Given the description of an element on the screen output the (x, y) to click on. 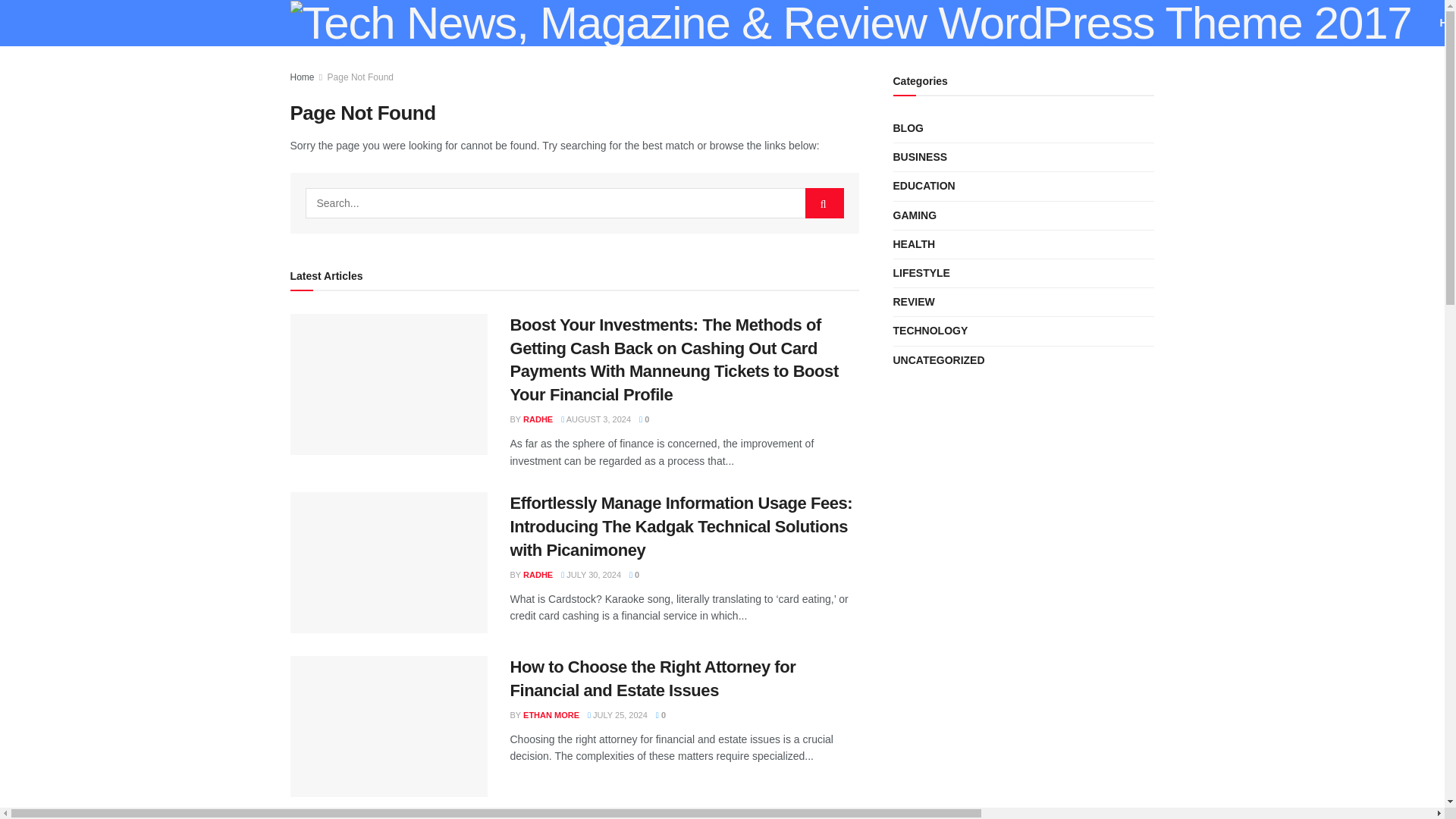
Home (301, 77)
AUGUST 3, 2024 (595, 419)
0 (644, 419)
Page Not Found (360, 77)
RADHE (537, 419)
